Given the description of an element on the screen output the (x, y) to click on. 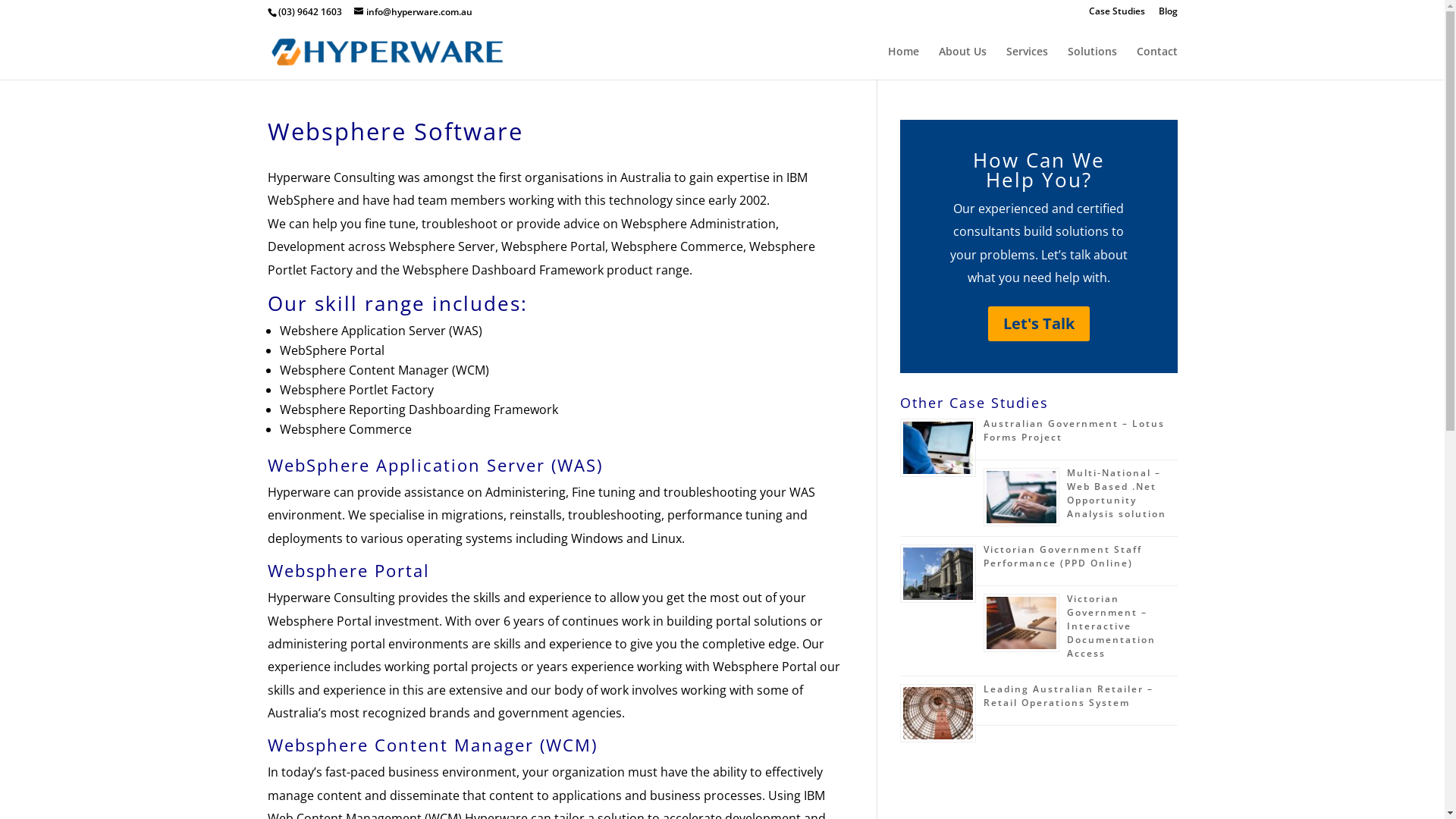
Solutions Element type: text (1092, 62)
Contact Element type: text (1155, 62)
Home Element type: text (902, 62)
Blog Element type: text (1167, 14)
info@hyperware.com.au Element type: text (412, 11)
Let's Talk Element type: text (1037, 323)
Case Studies Element type: text (1116, 14)
Services Element type: text (1026, 62)
Victorian Government Staff Performance (PPD Online) Element type: text (1061, 555)
About Us Element type: text (962, 62)
